Given the description of an element on the screen output the (x, y) to click on. 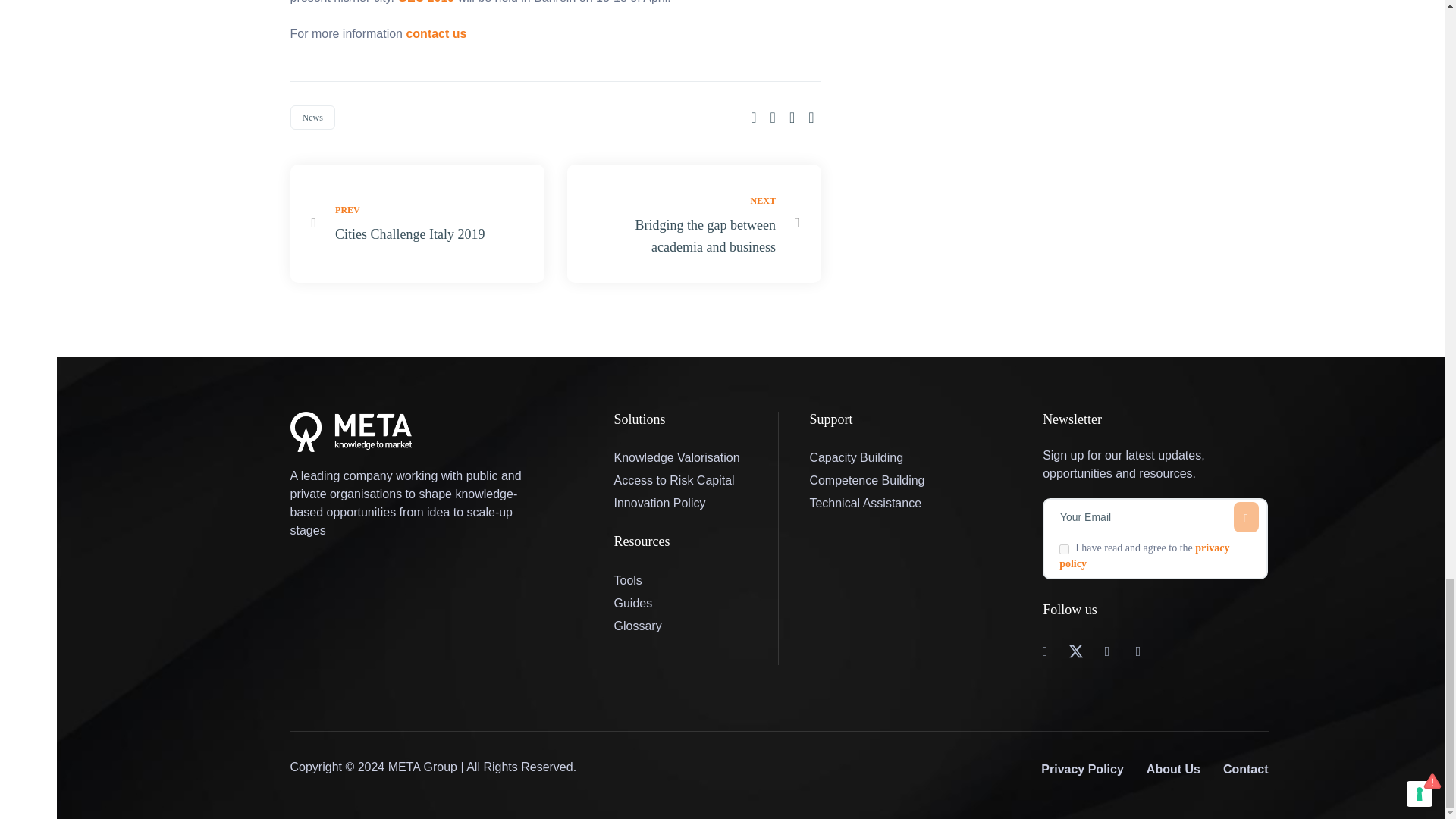
1 (1063, 549)
